Given the description of an element on the screen output the (x, y) to click on. 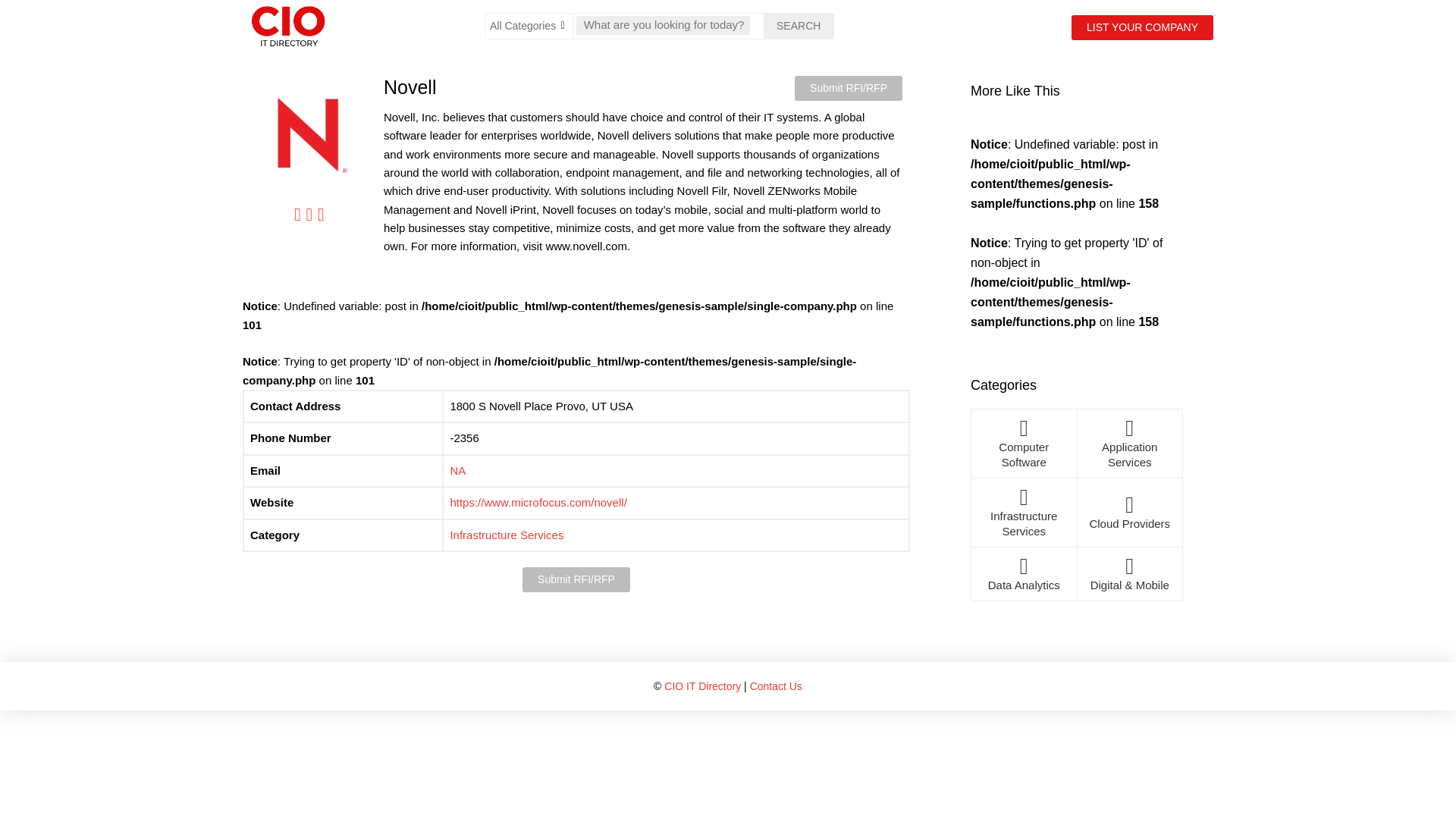
NA (457, 470)
LIST YOUR COMPANY (1141, 27)
What are you looking for today? (662, 24)
Infrastructure Services (506, 533)
CIOIT Directory (299, 26)
What are you looking for today? (662, 24)
SEARCH (797, 25)
SEARCH (797, 25)
